Given the description of an element on the screen output the (x, y) to click on. 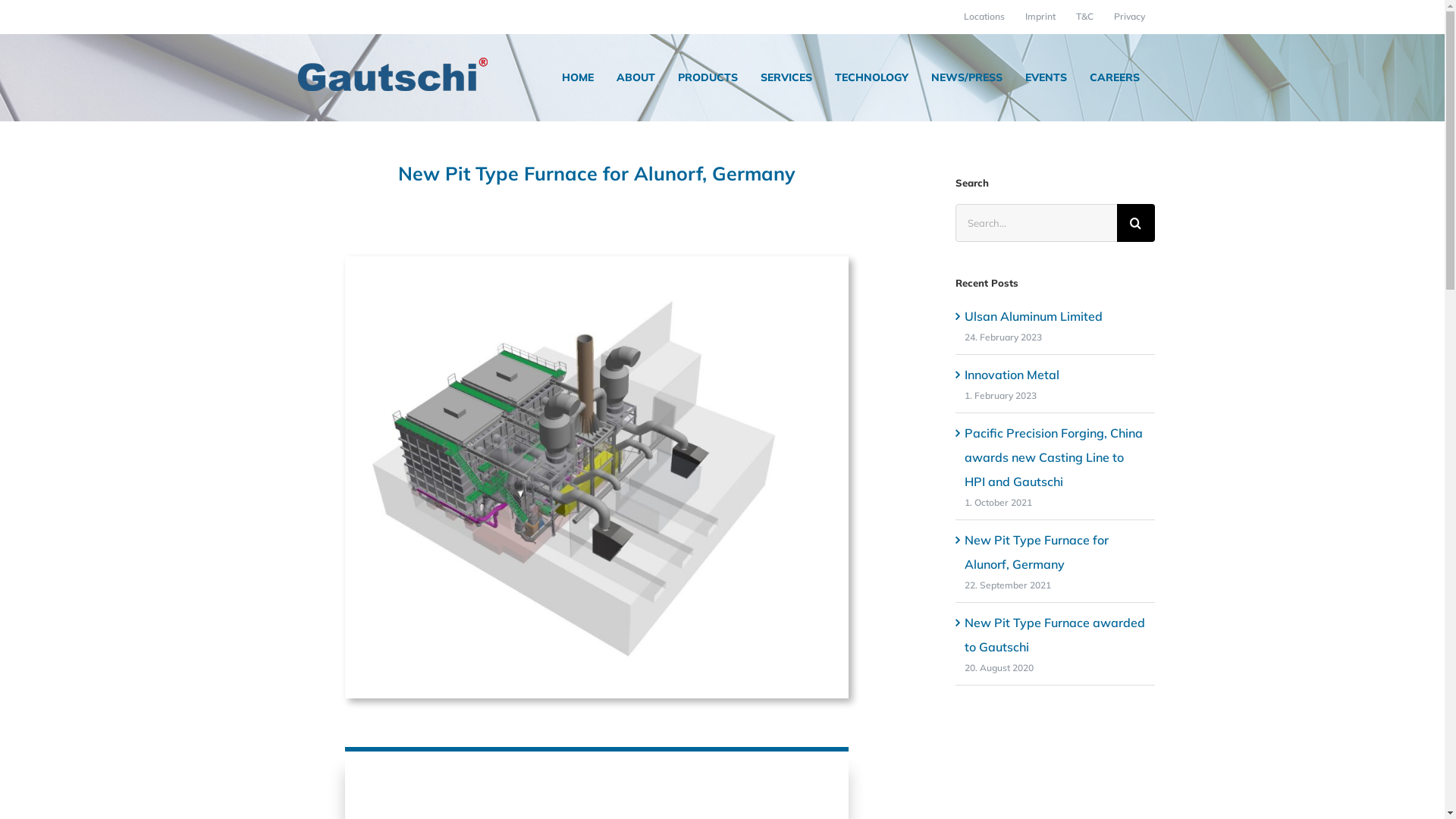
Locations Element type: text (983, 16)
TECHNOLOGY Element type: text (870, 77)
PRODUCTS Element type: text (707, 77)
New Pit Type Furnace awarded to Gautschi Element type: text (1054, 634)
Alunorf Element type: hover (596, 476)
CAREERS Element type: text (1113, 77)
Ulsan Aluminum Limited Element type: text (1033, 315)
Privacy Element type: text (1129, 16)
Imprint Element type: text (1039, 16)
Innovation Metal Element type: text (1011, 374)
SERVICES Element type: text (785, 77)
ABOUT Element type: text (634, 77)
T&C Element type: text (1084, 16)
NEWS/PRESS Element type: text (966, 77)
HOME Element type: text (577, 77)
EVENTS Element type: text (1045, 77)
New Pit Type Furnace for Alunorf, Germany Element type: text (1036, 551)
